Given the description of an element on the screen output the (x, y) to click on. 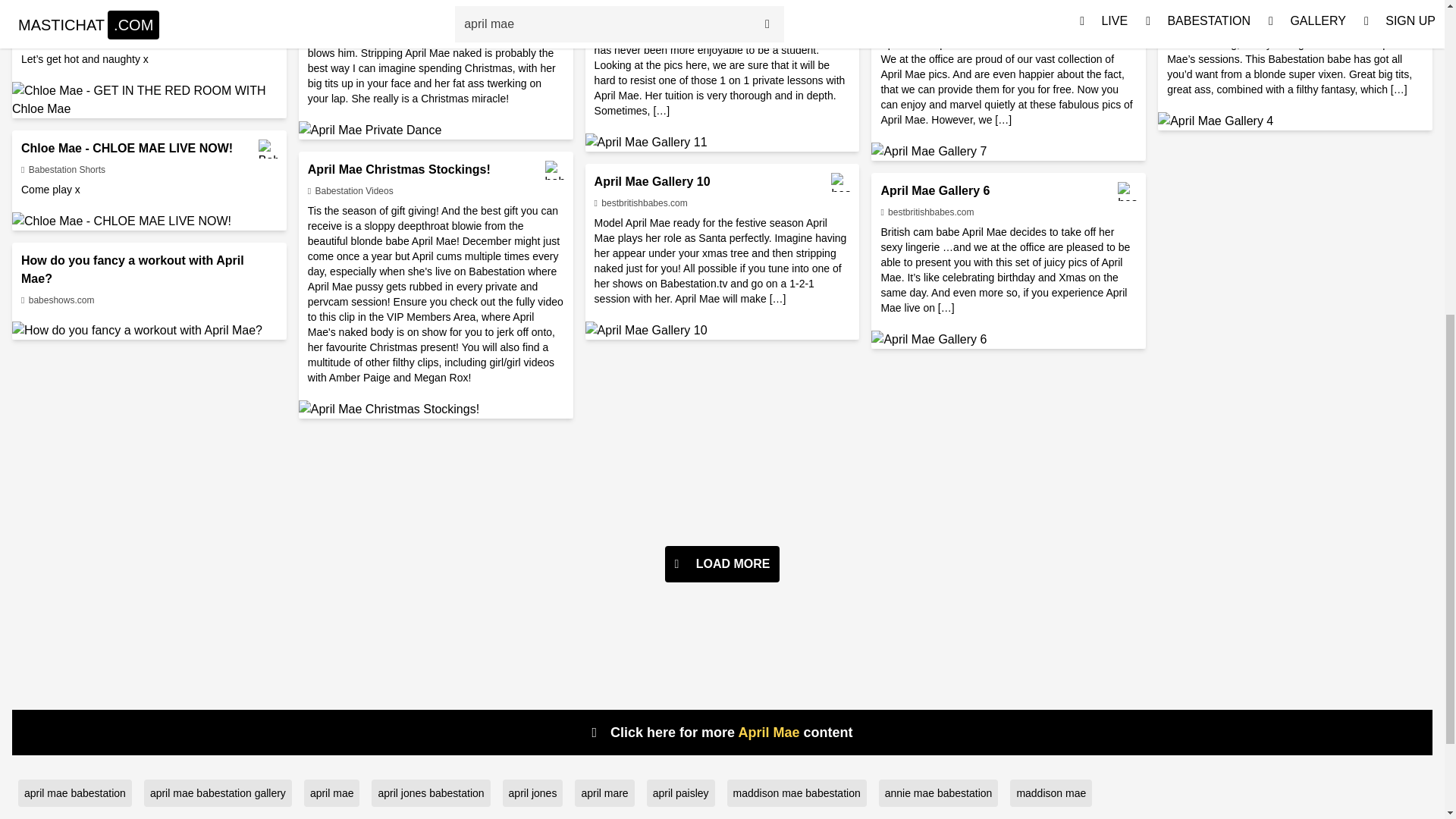
april jones (532, 792)
april mae babestation (74, 792)
april paisley (680, 792)
april mare (604, 792)
maddison mae (1051, 792)
april jones babestation (430, 792)
annie mae babestation (938, 792)
Babestation Videos (350, 190)
Click here for more April Mae content (721, 732)
april mae babestation gallery (218, 792)
april mae (331, 792)
LOAD MORE (721, 564)
maddison mae babestation (796, 792)
